Given the description of an element on the screen output the (x, y) to click on. 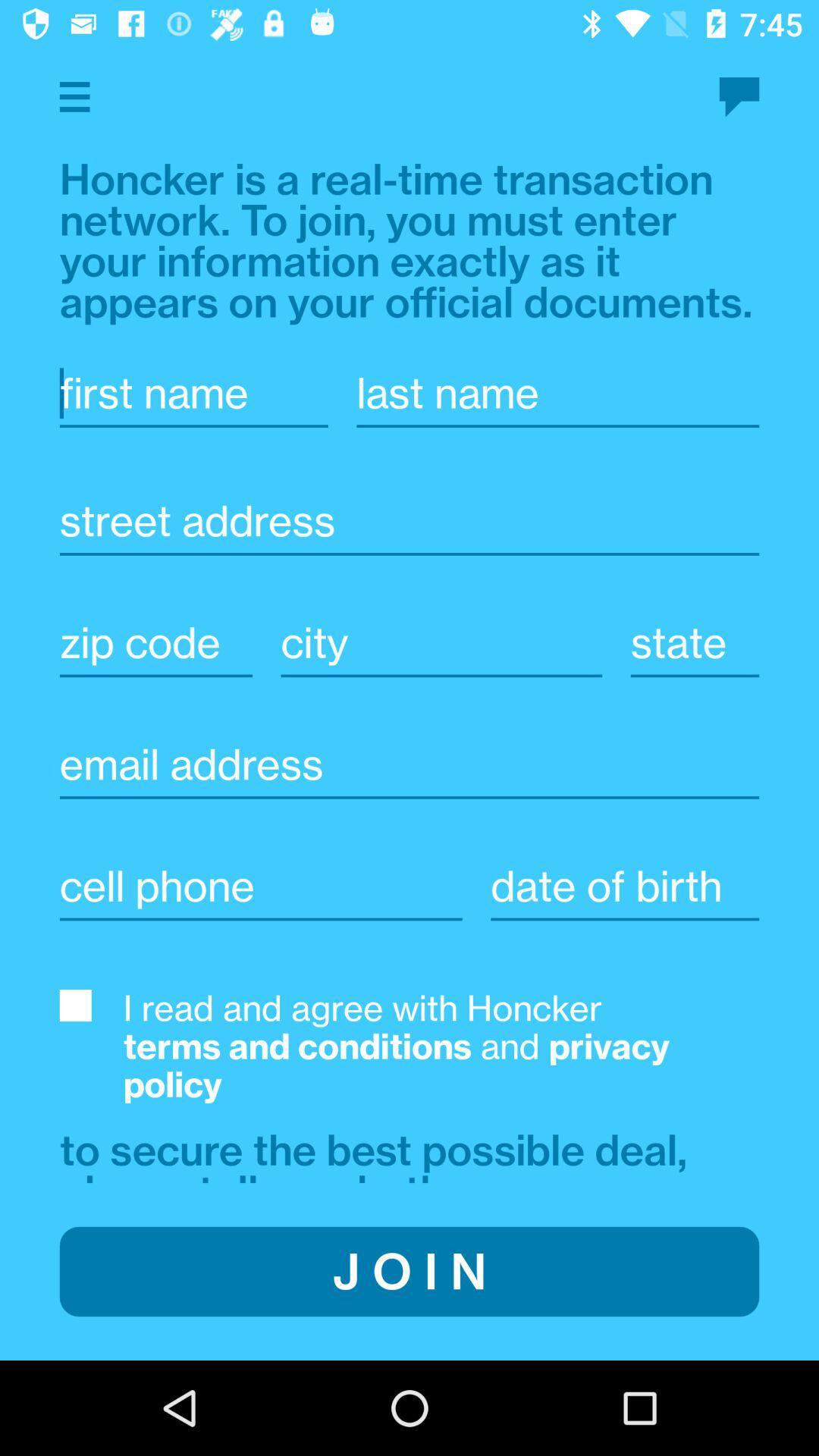
email address space (409, 764)
